Given the description of an element on the screen output the (x, y) to click on. 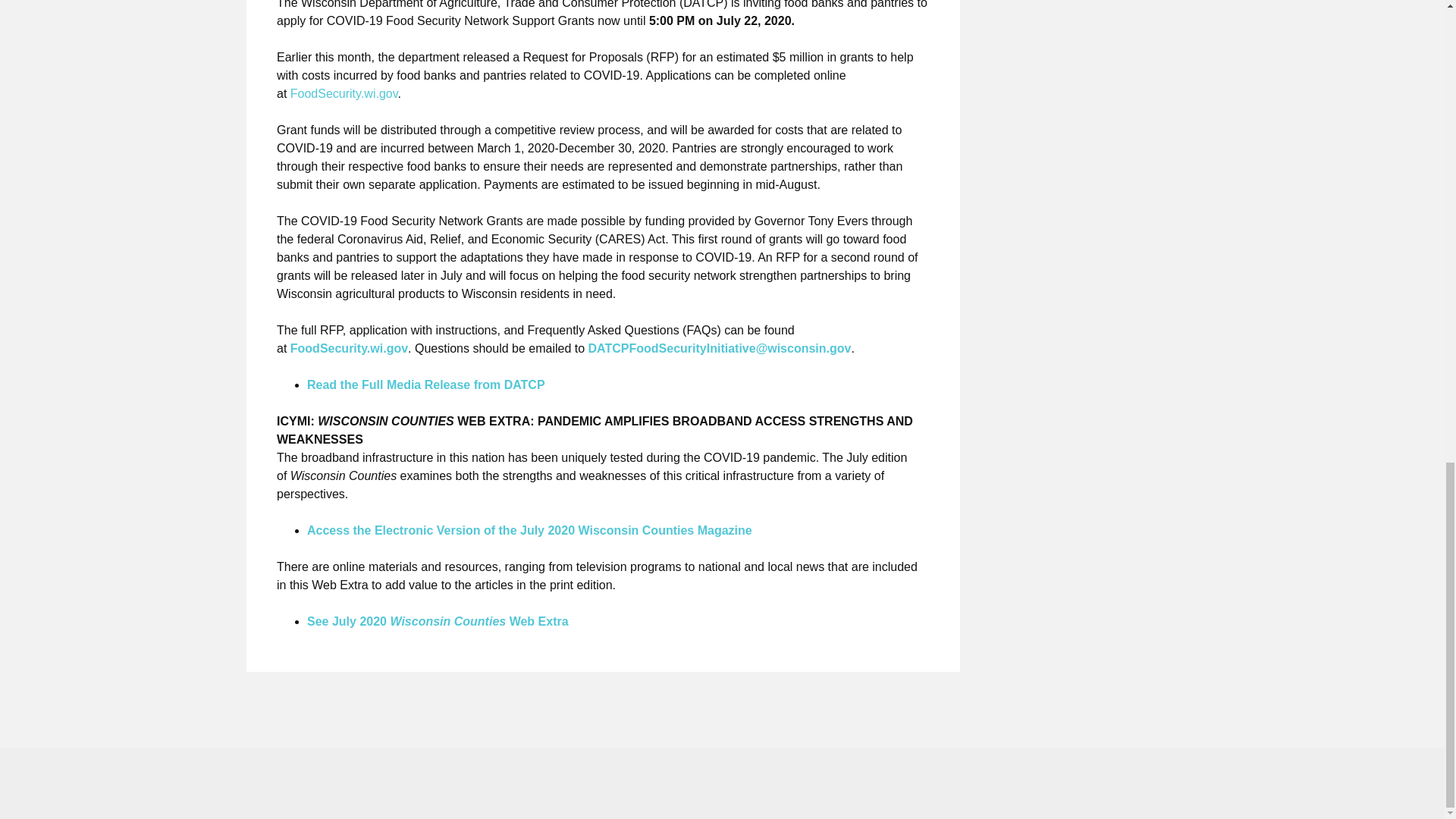
See July 2020 Wisconsin Counties Web Extra (438, 621)
FoodSecurity.wi.gov (343, 92)
FoodSecurity.wi.gov (348, 348)
Read the Full Media Release from DATCP (425, 384)
